Given the description of an element on the screen output the (x, y) to click on. 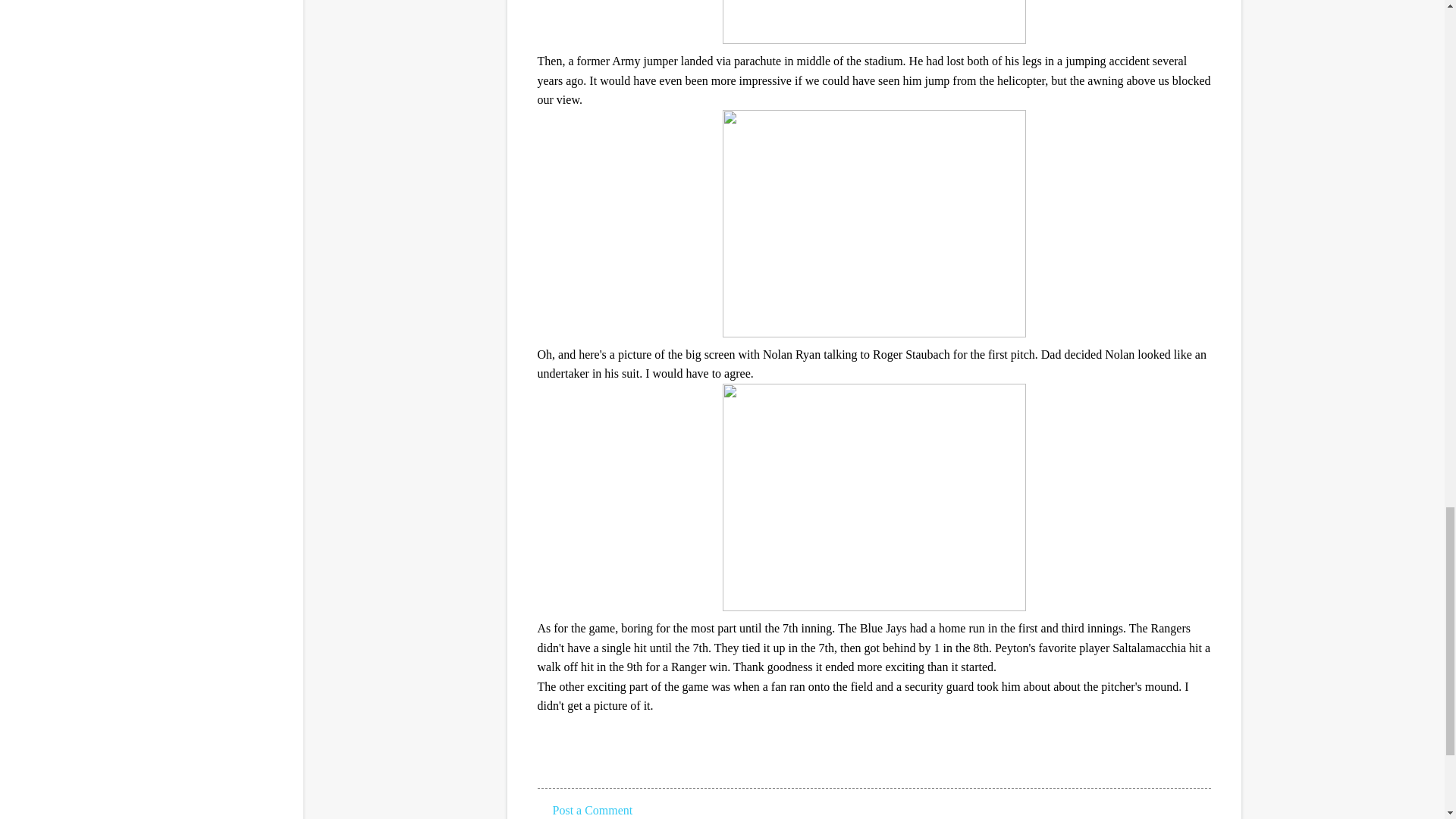
Email Post (545, 759)
Post a Comment (591, 809)
